Given the description of an element on the screen output the (x, y) to click on. 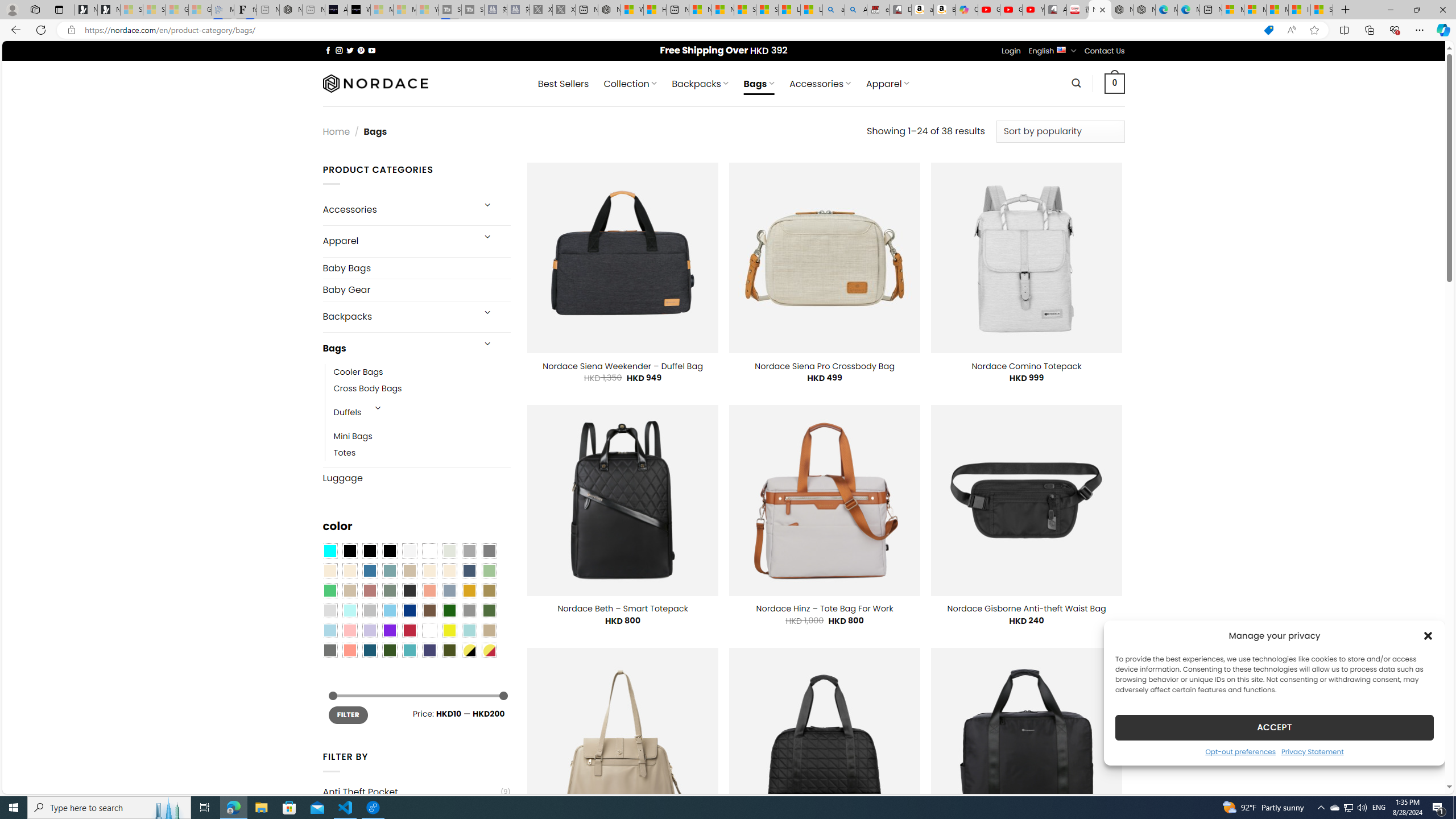
Follow on YouTube (371, 49)
Mint (349, 610)
All Black (349, 550)
Caramel (429, 570)
amazon.in/dp/B0CX59H5W7/?tag=gsmcom05-21 (923, 9)
Newsletter Sign Up (109, 9)
Baby Gear (416, 289)
Aqua Blue (329, 550)
Aqua (468, 630)
